Given the description of an element on the screen output the (x, y) to click on. 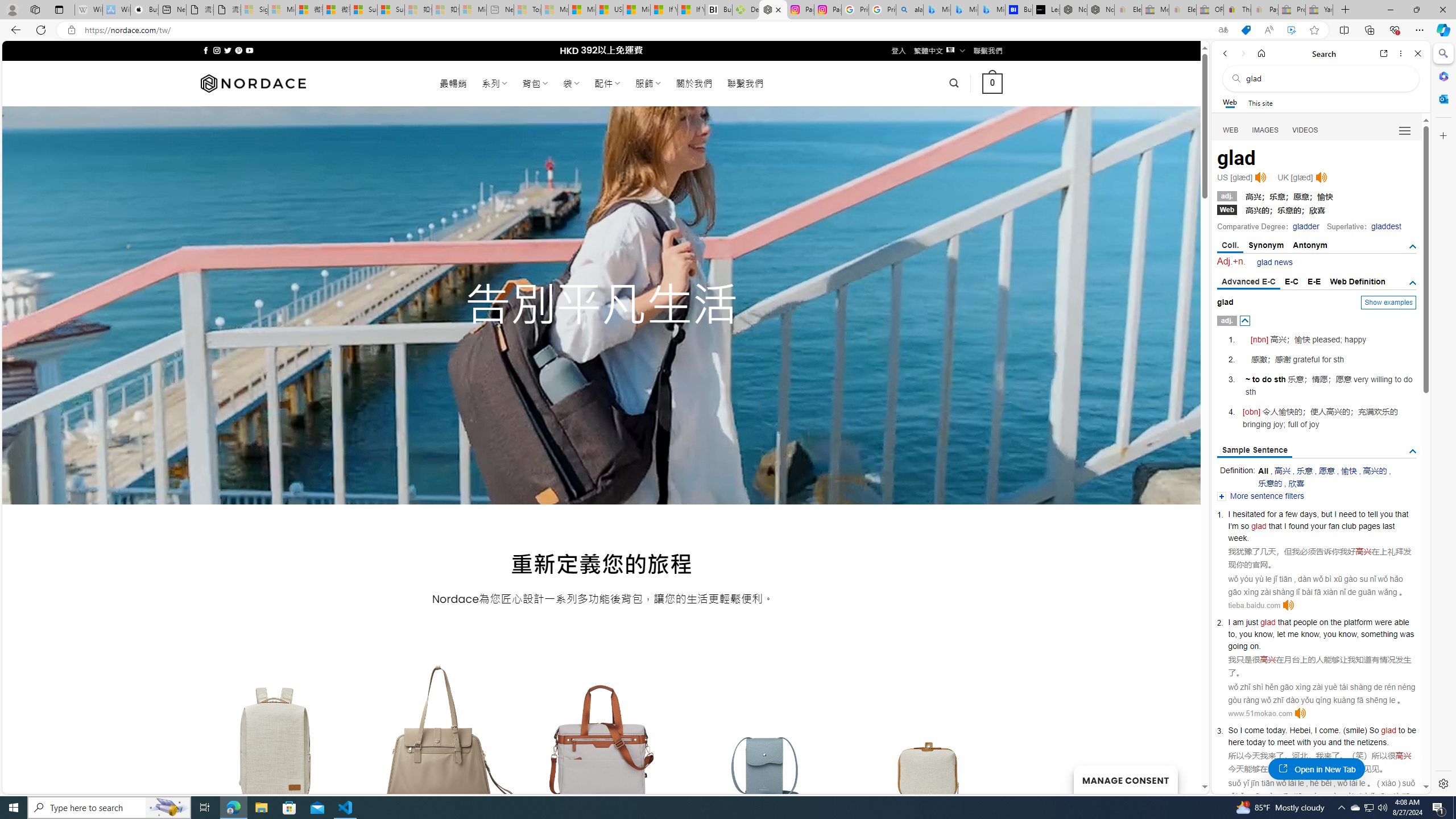
come (1329, 729)
AutomationID: tgsb (1412, 246)
Advanced E-C (1248, 282)
here (1235, 741)
Follow on YouTube (249, 50)
WEB (1231, 130)
, (1311, 729)
